Given the description of an element on the screen output the (x, y) to click on. 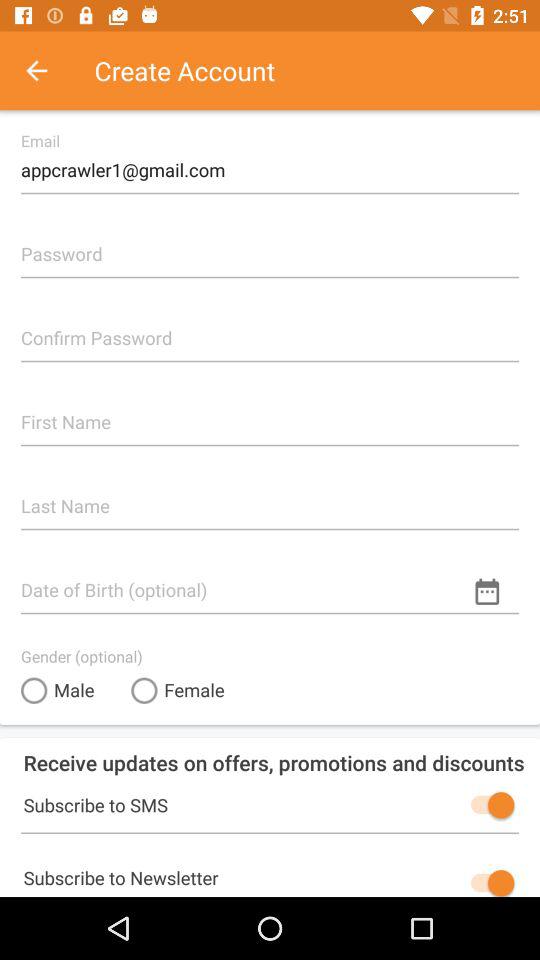
confirm password (270, 329)
